Given the description of an element on the screen output the (x, y) to click on. 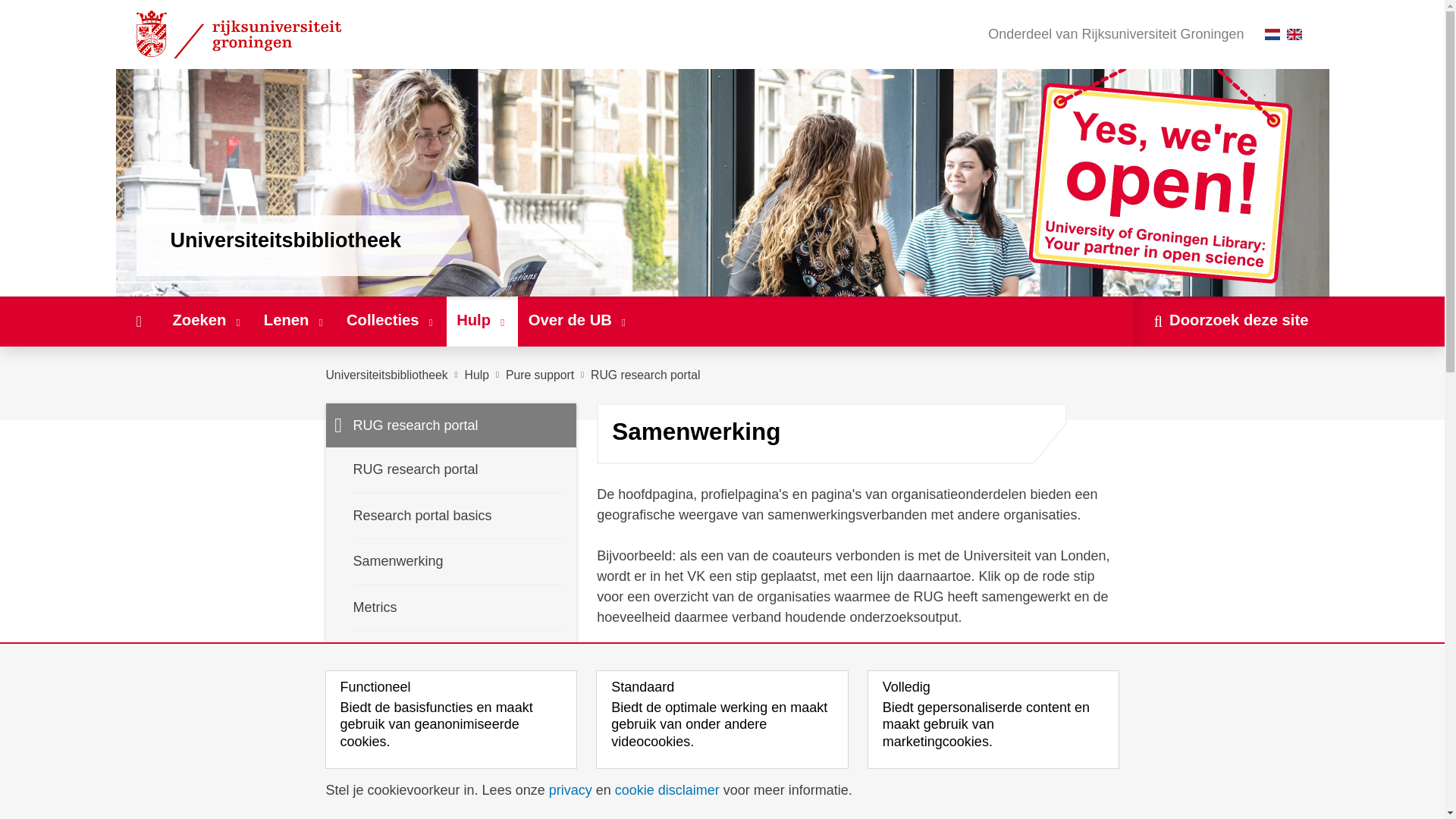
Lenen (294, 321)
Zoeken (207, 321)
English (1293, 33)
Taal selectie (1286, 34)
Home (138, 321)
Nederlands (1272, 33)
Collecties (390, 321)
